Given the description of an element on the screen output the (x, y) to click on. 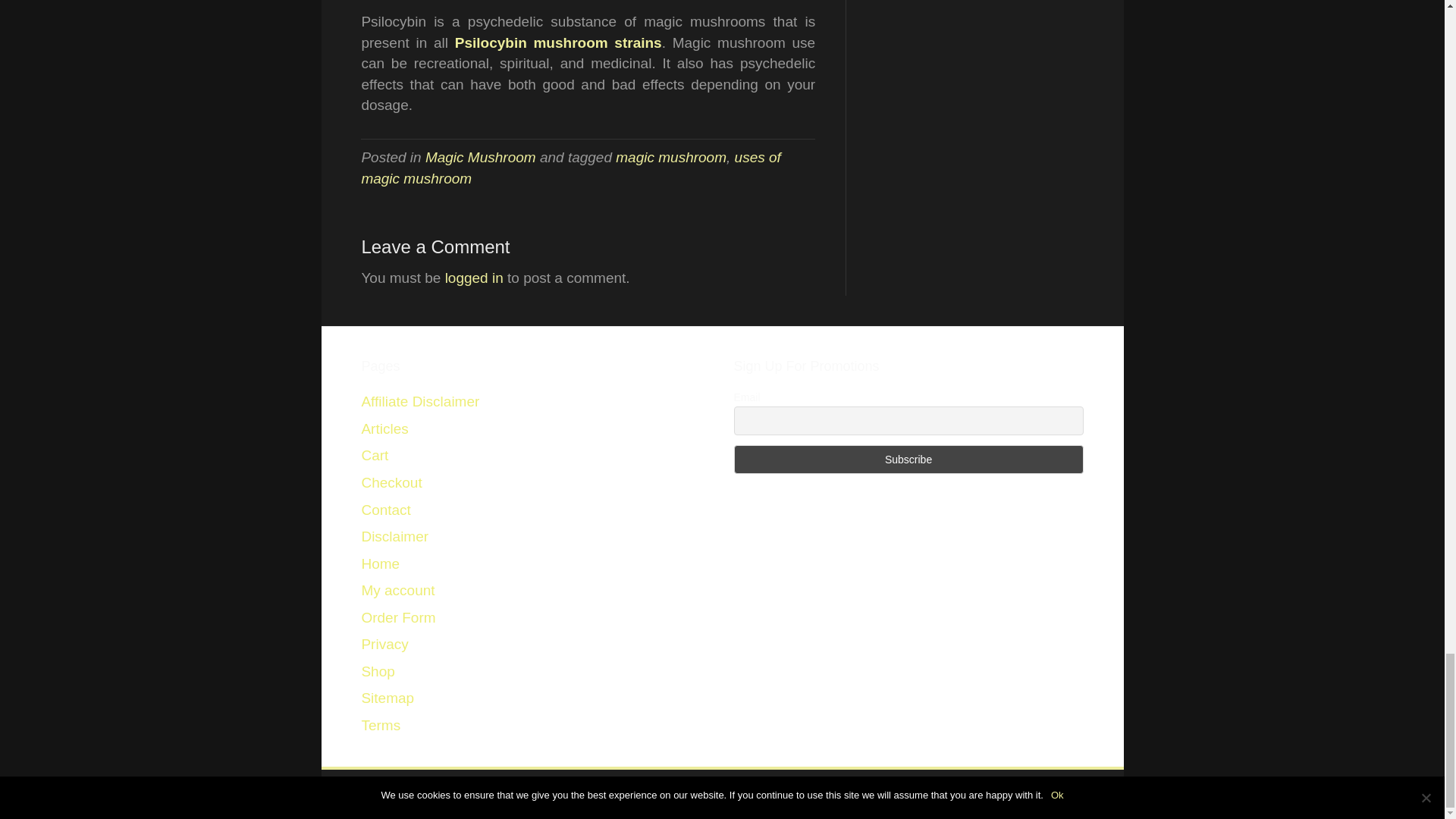
magic mushroom (670, 157)
Subscribe (908, 459)
Psilocybin mushroom strains (558, 42)
Magic Mushroom (480, 157)
uses of magic mushroom (570, 167)
logged in (474, 277)
